Given the description of an element on the screen output the (x, y) to click on. 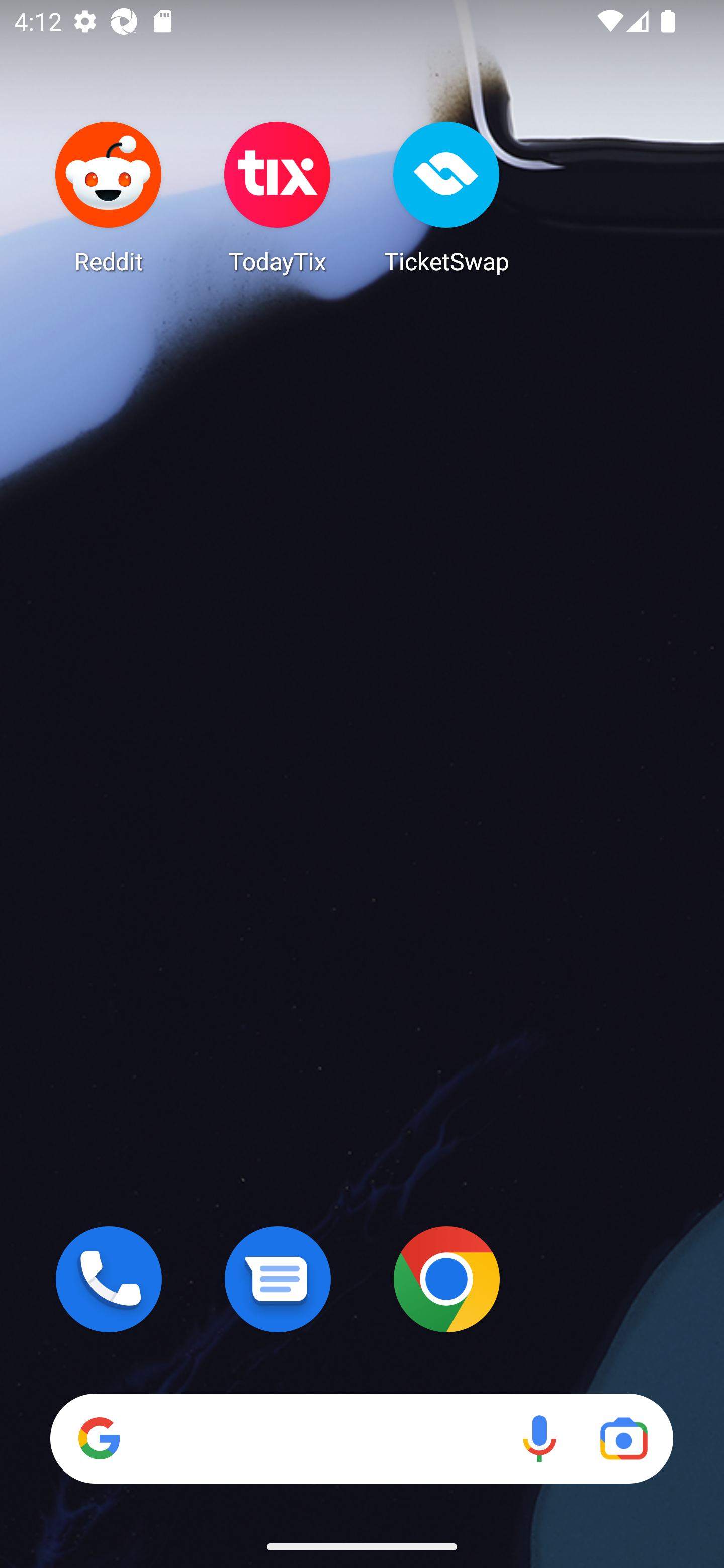
Reddit (108, 196)
TodayTix (277, 196)
TicketSwap (445, 196)
Phone (108, 1279)
Messages (277, 1279)
Chrome (446, 1279)
Voice search (539, 1438)
Google Lens (623, 1438)
